Given the description of an element on the screen output the (x, y) to click on. 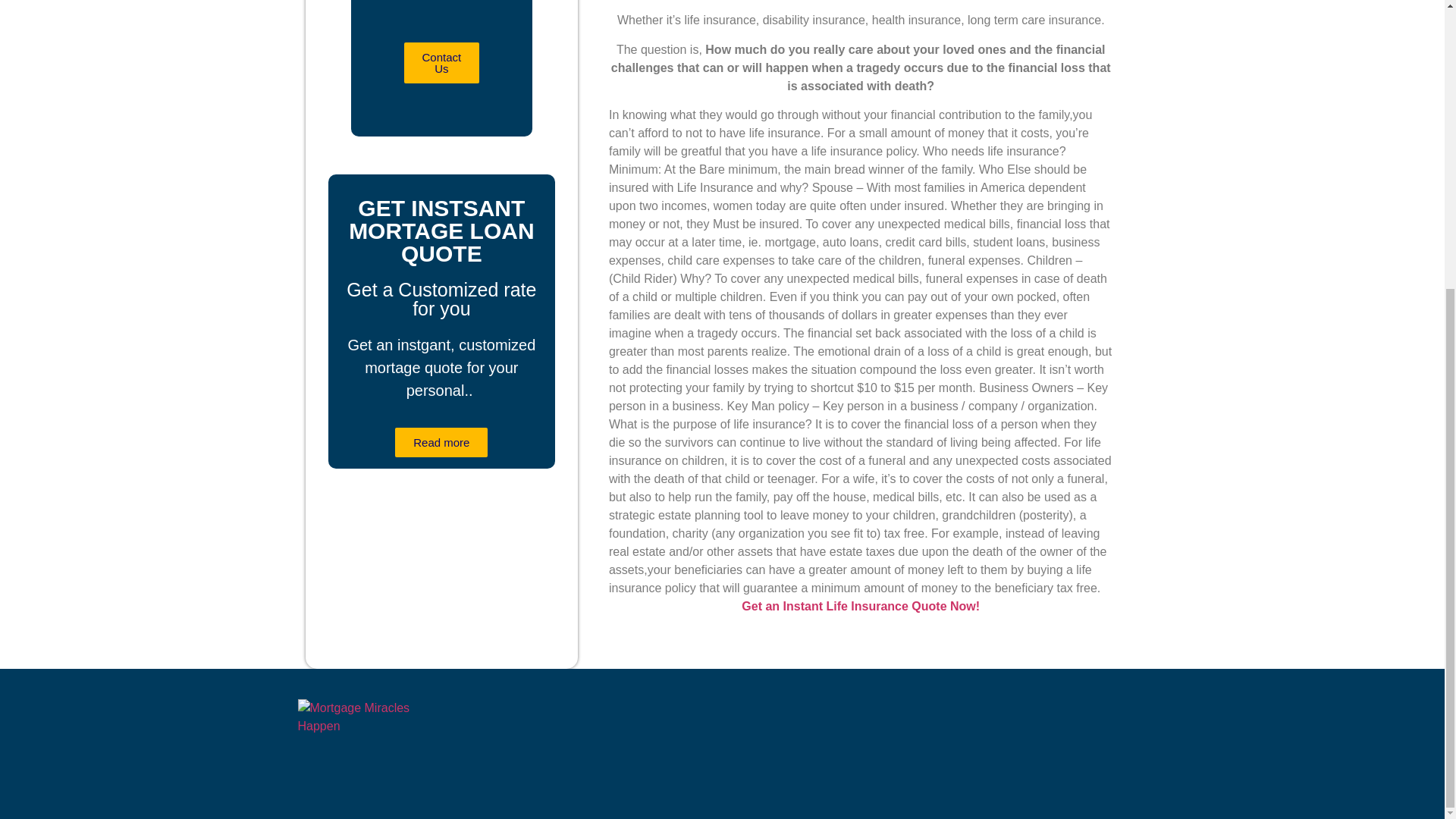
Read more (440, 442)
Online Life Insurance application - Insure My Life Right (860, 605)
Get an Instant Life Insurance Quote Now! (860, 605)
Contact Us (441, 62)
